Given the description of an element on the screen output the (x, y) to click on. 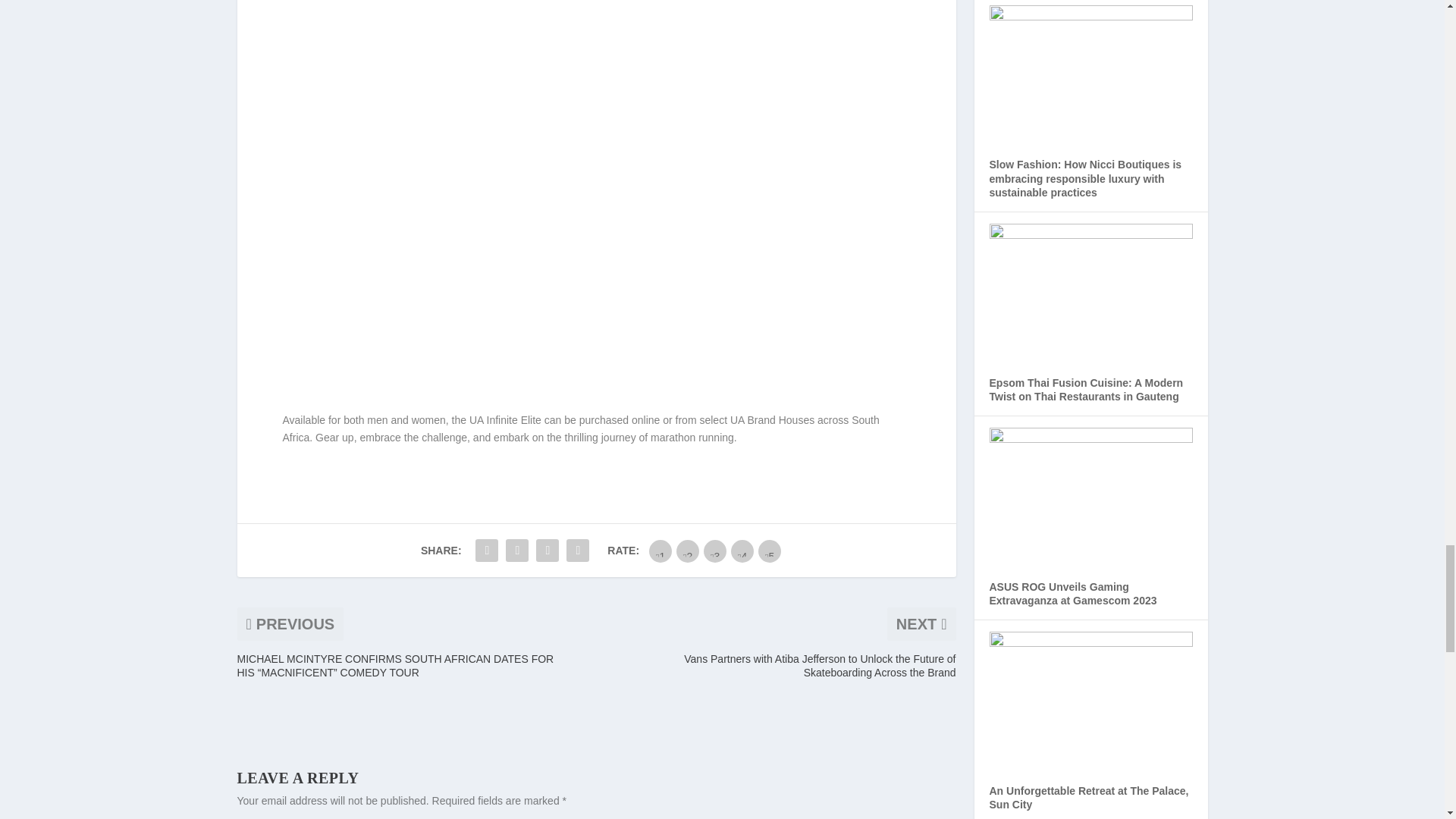
gorgeous (769, 550)
regular (714, 550)
poor (687, 550)
good (742, 550)
bad (660, 550)
